Given the description of an element on the screen output the (x, y) to click on. 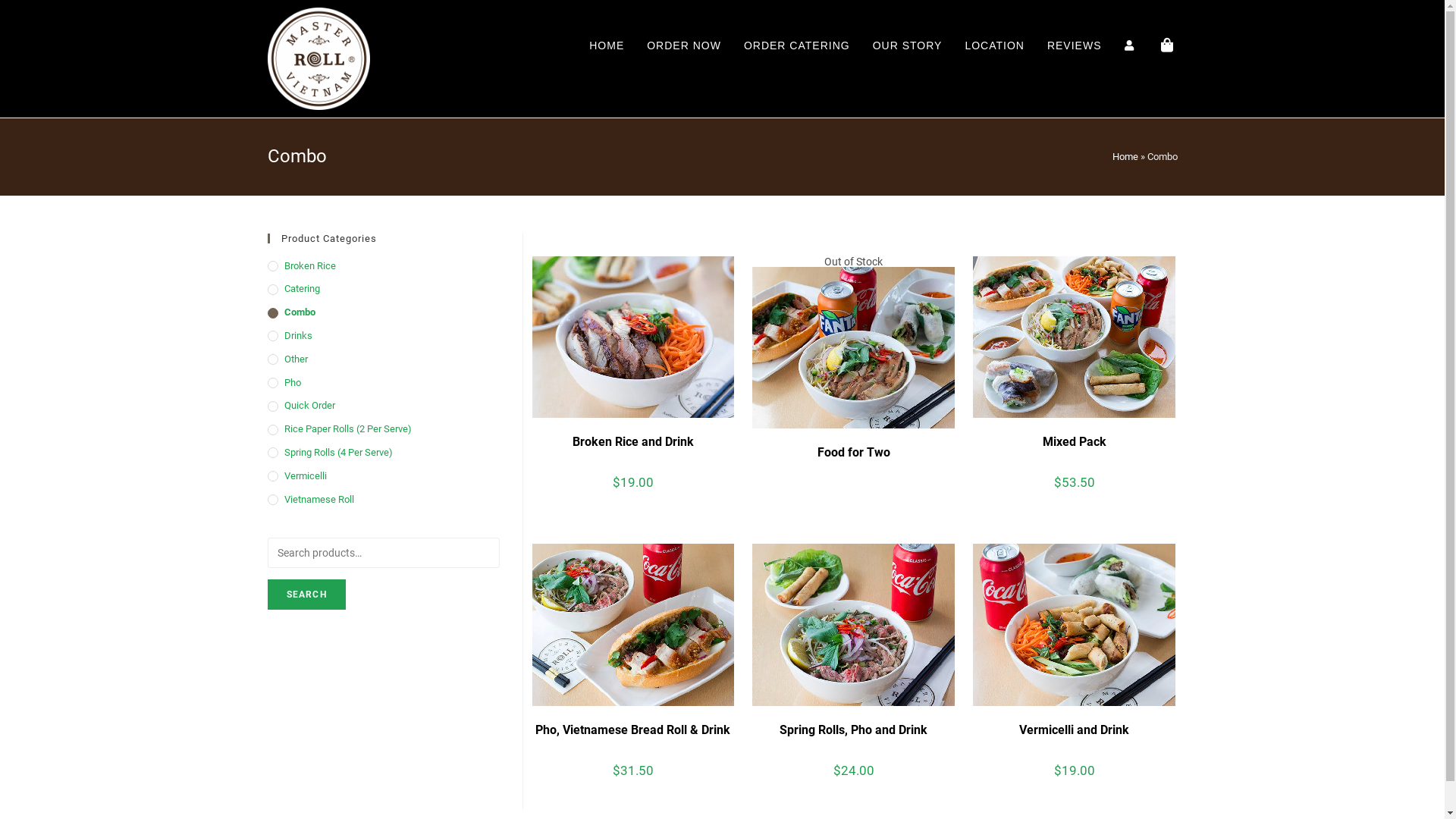
ORDER CATERING Element type: text (796, 45)
SEARCH Element type: text (305, 594)
Mixed Pack Element type: text (1074, 442)
Rice Paper Rolls (2 Per Serve) Element type: text (382, 429)
ORDER NOW Element type: text (683, 45)
Broken Rice and Drink Element type: text (632, 442)
HOME Element type: text (606, 45)
Other Element type: text (382, 359)
OUR STORY Element type: text (907, 45)
Home Element type: text (1124, 156)
Quick Order Element type: text (382, 406)
Pho, Vietnamese Bread Roll & Drink Element type: text (632, 730)
LOCATION Element type: text (994, 45)
Catering Element type: text (382, 289)
Vermicelli Element type: text (382, 476)
Vietnamese Roll Element type: text (382, 500)
Spring Rolls, Pho and Drink Element type: text (853, 730)
REVIEWS Element type: text (1074, 45)
Food for Two Element type: text (853, 452)
Combo Element type: text (382, 312)
Broken Rice Element type: text (382, 266)
Spring Rolls (4 Per Serve) Element type: text (382, 453)
Pho Element type: text (382, 383)
Drinks Element type: text (382, 336)
Vermicelli and Drink Element type: text (1074, 730)
